Given the description of an element on the screen output the (x, y) to click on. 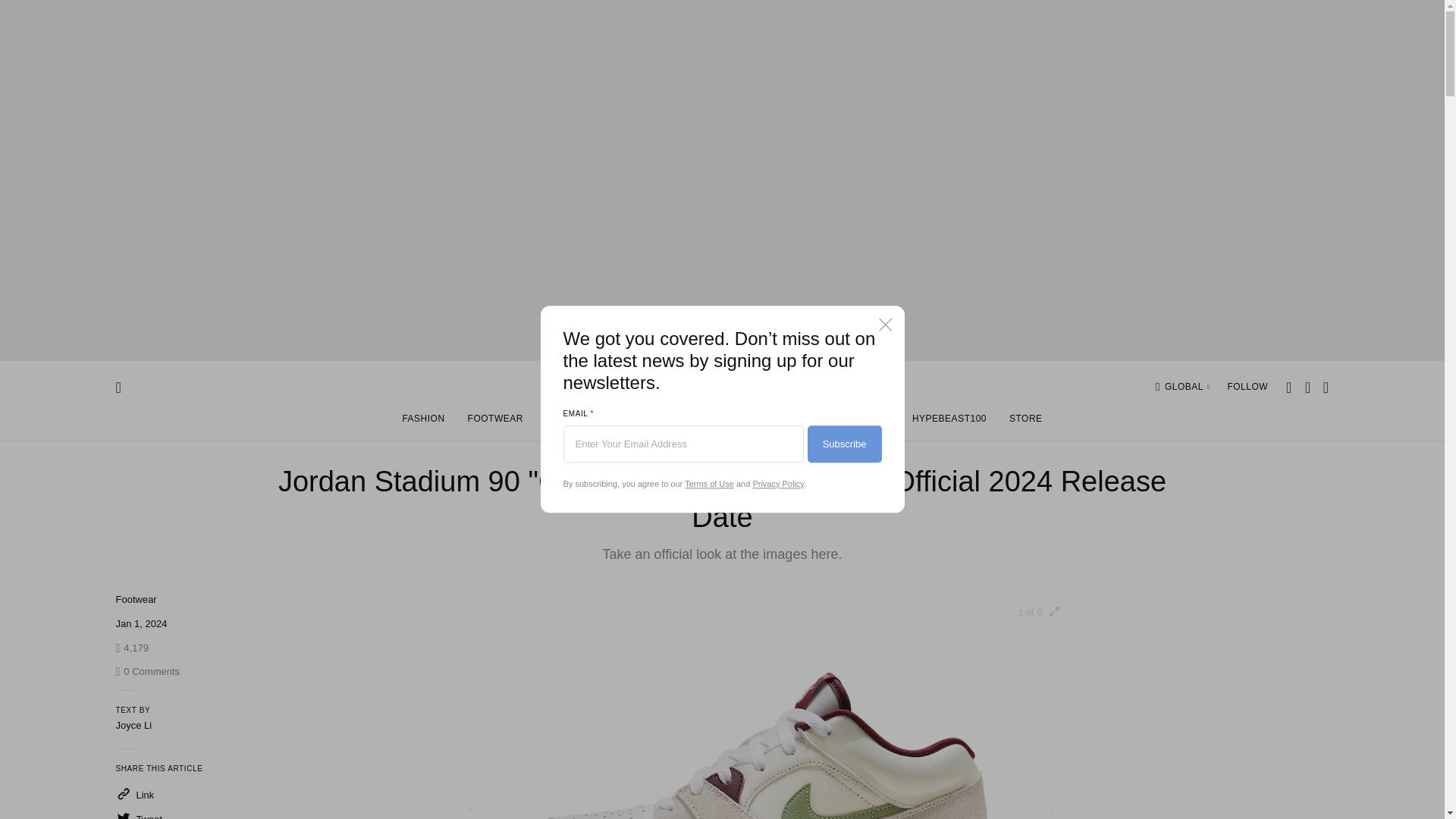
ART (555, 421)
Joyce Li (133, 725)
BRANDS (795, 421)
LIFESTYLE (727, 421)
Footwear (135, 599)
STORE (1025, 421)
MUSIC (663, 421)
FASHION (147, 671)
GLOBAL (422, 421)
MAGAZINE (1187, 387)
Footwear (864, 421)
FOOTWEAR (135, 599)
3rd party ad content (495, 421)
